Given the description of an element on the screen output the (x, y) to click on. 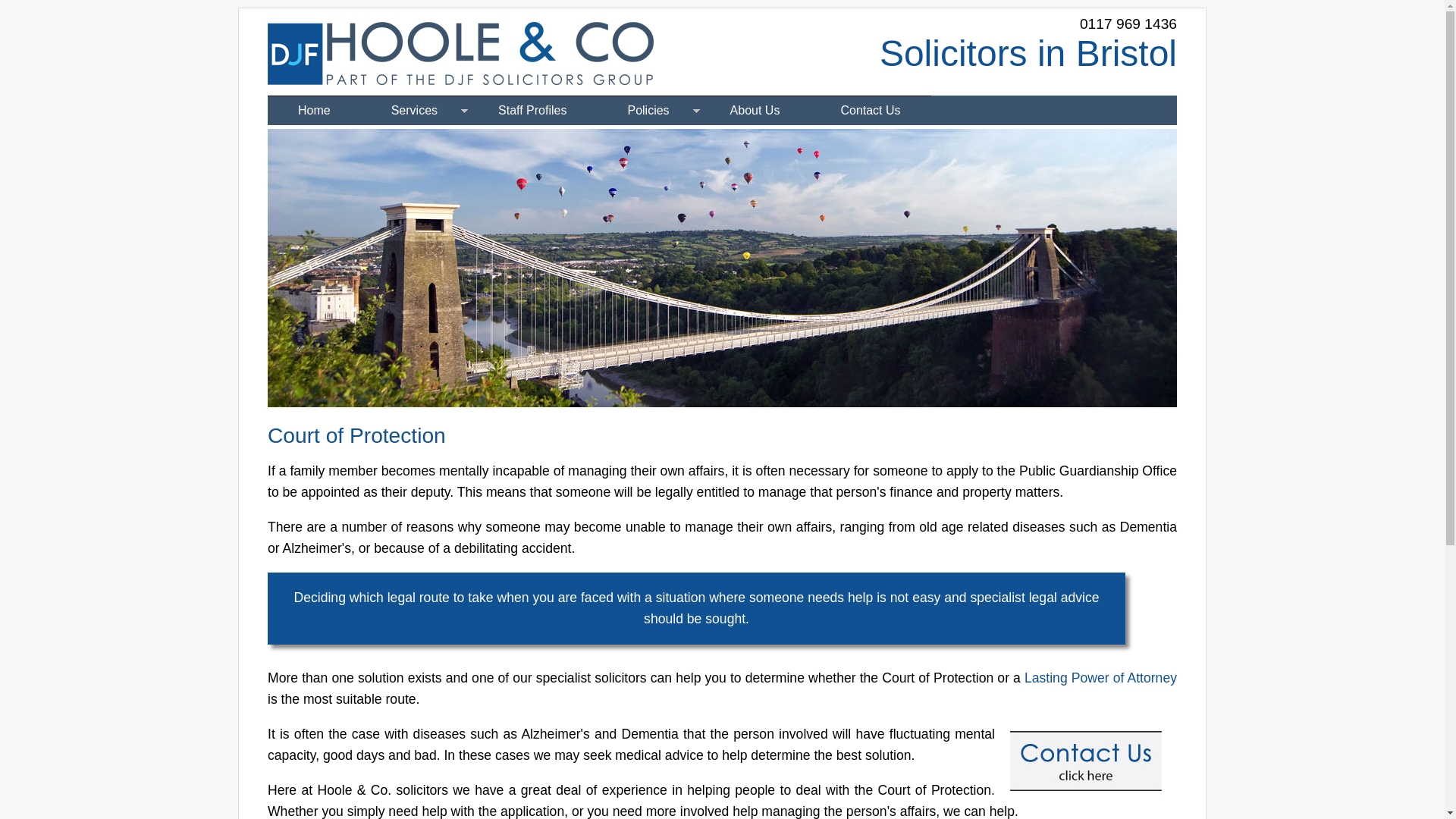
Home (314, 110)
0117 969 1436 (1128, 23)
Services (414, 110)
